Given the description of an element on the screen output the (x, y) to click on. 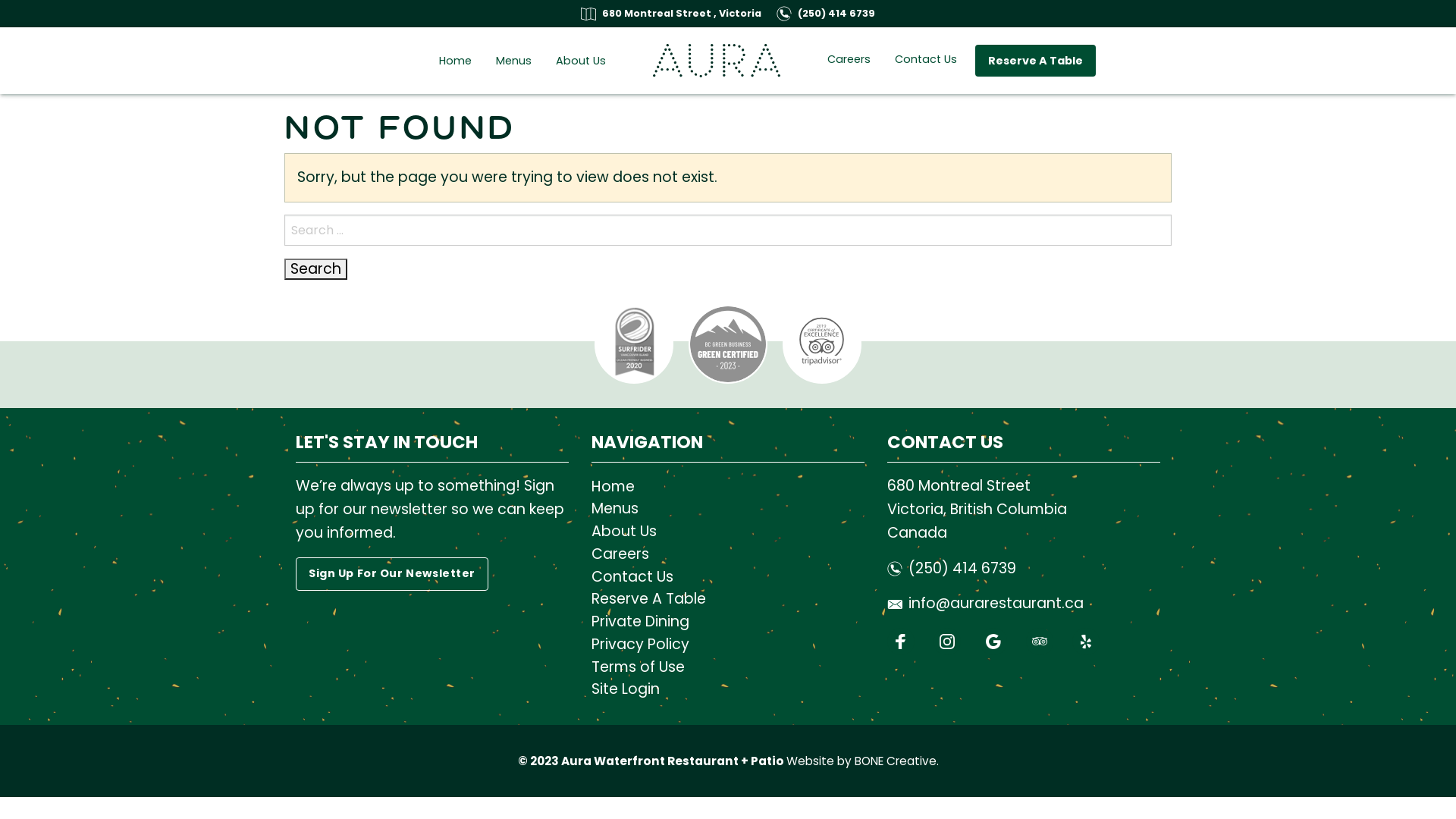
Site Login Element type: text (727, 688)
Contact Us Element type: text (727, 576)
About Us Element type: text (580, 60)
info@aurarestaurant.ca Element type: text (985, 603)
Menus Element type: text (513, 60)
Careers Element type: text (848, 58)
Private Dining Element type: text (727, 621)
Menus Element type: text (727, 509)
(250) 414 6739 Element type: text (825, 12)
About Us Element type: text (727, 531)
(250) 414 6739 Element type: text (951, 568)
Contact Us Element type: text (925, 58)
680 Montreal Street , Victoria Element type: text (670, 12)
Sign Up For Our Newsletter Element type: text (391, 574)
Privacy Policy Element type: text (727, 644)
Terms of Use Element type: text (727, 666)
Search Element type: text (315, 268)
Home Element type: text (727, 486)
Home Element type: text (454, 60)
Reserve A Table Element type: text (727, 598)
Reserve A Table Element type: text (1035, 60)
Careers Element type: text (727, 553)
